Given the description of an element on the screen output the (x, y) to click on. 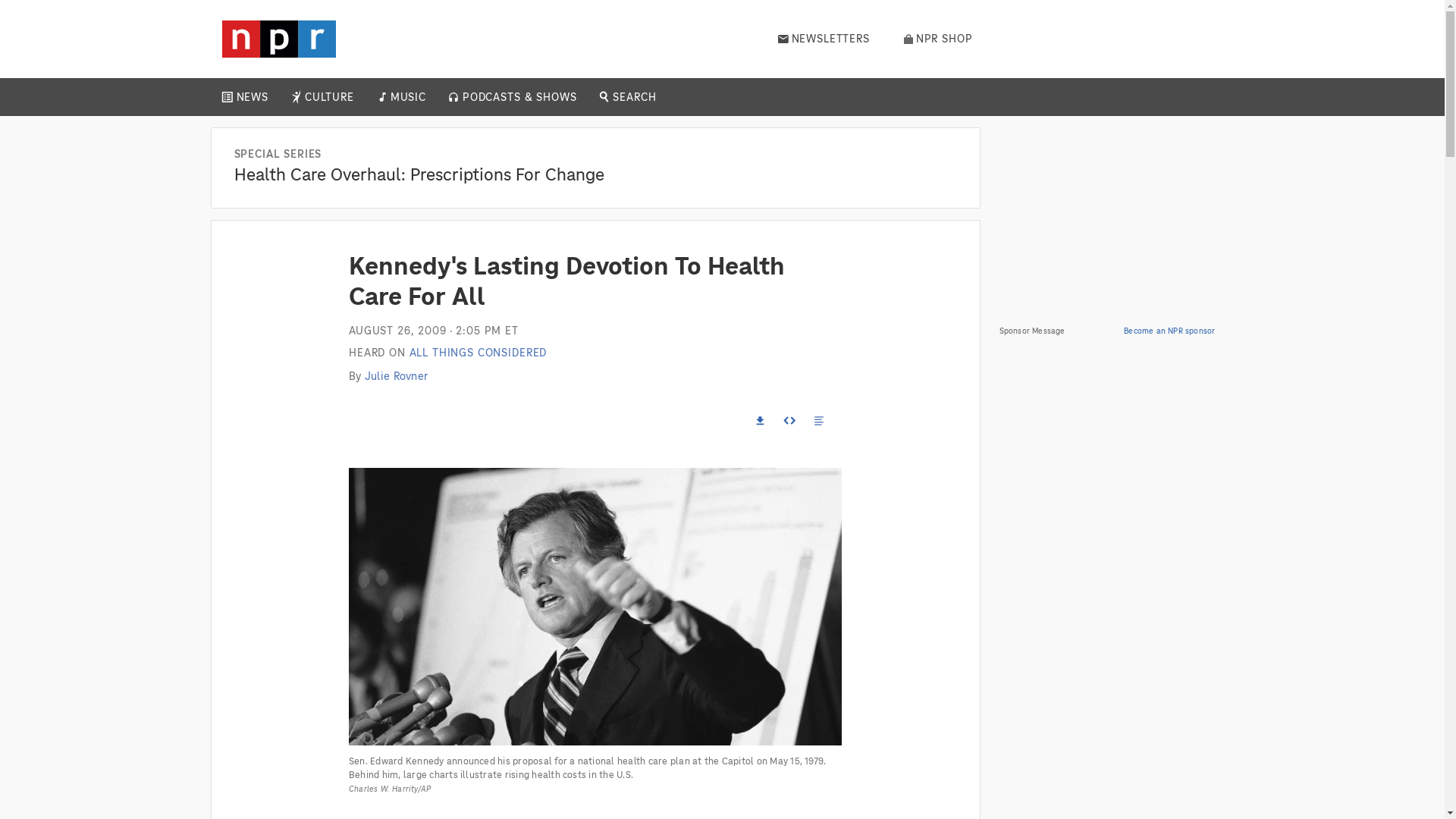
CULTURE (328, 96)
NEWS (251, 96)
NEWSLETTERS (823, 38)
NPR SHOP (938, 38)
MUSIC (407, 96)
